Given the description of an element on the screen output the (x, y) to click on. 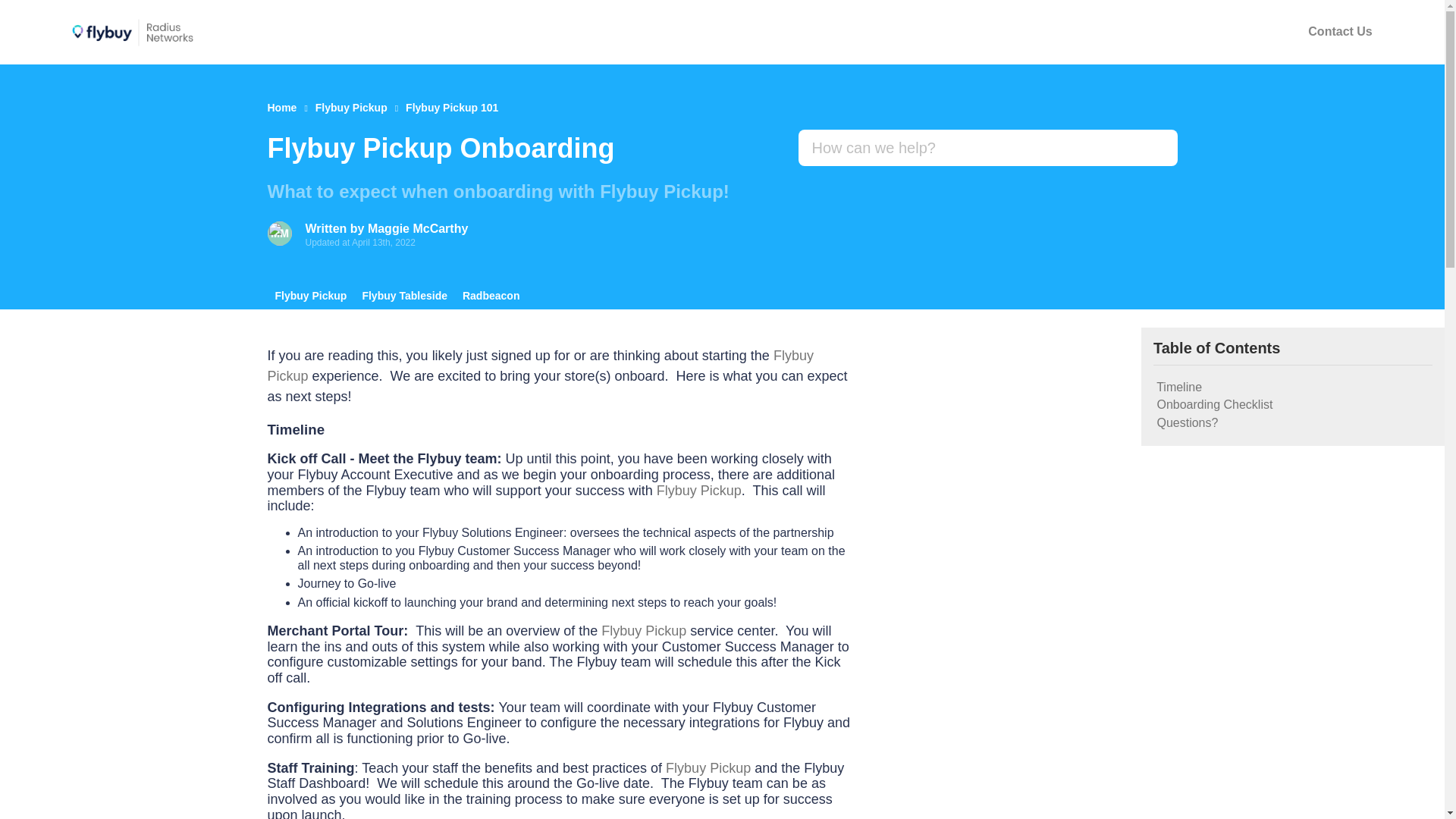
 Timeline  (1292, 386)
 Onboarding Checklist (1292, 404)
Radbeacon (490, 295)
Home (281, 107)
Maggie McCarthy (417, 228)
Flybuy Pickup 101 (451, 107)
 Questions? (1292, 422)
Flybuy Pickup (351, 107)
Flybuy Pickup (309, 295)
Flybuy Tableside (403, 295)
